Given the description of an element on the screen output the (x, y) to click on. 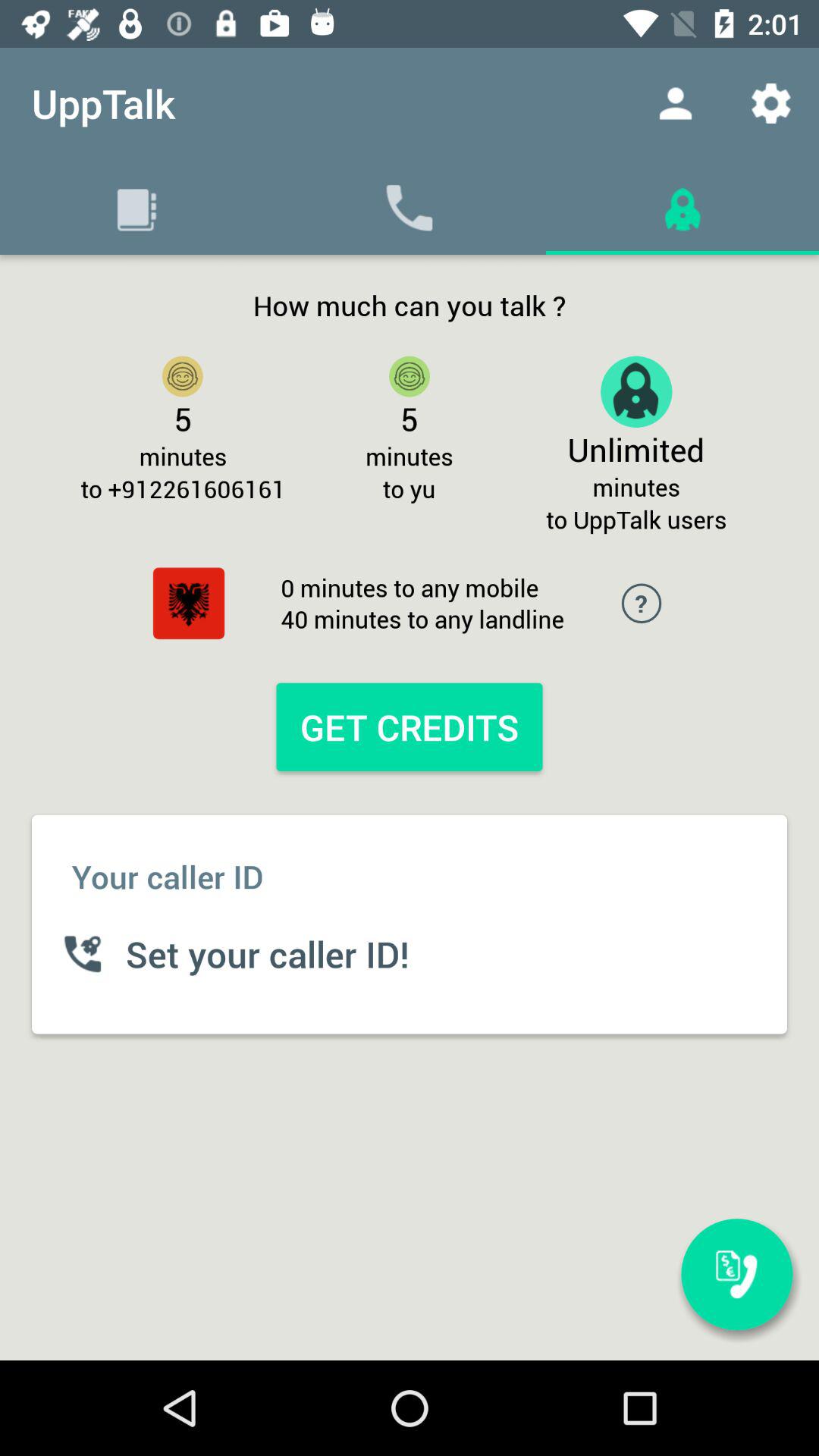
turn on item next to the 0 minutes to icon (188, 603)
